Given the description of an element on the screen output the (x, y) to click on. 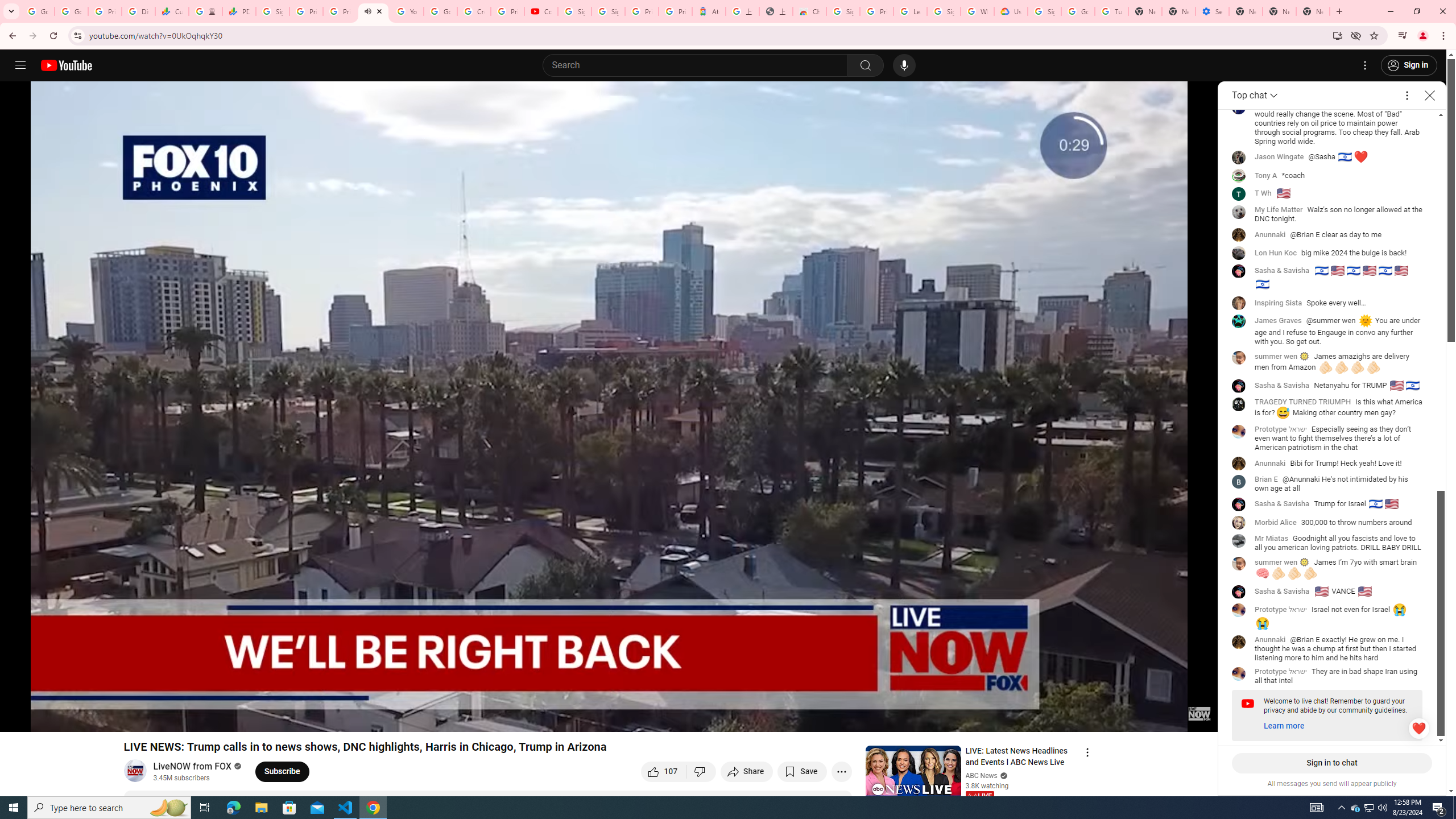
Verified (1002, 775)
Sign in - Google Accounts (574, 11)
Content Creator Programs & Opportunities - YouTube Creators (541, 11)
Settings - Addresses and more (1212, 11)
Search with your voice (903, 65)
